Given the description of an element on the screen output the (x, y) to click on. 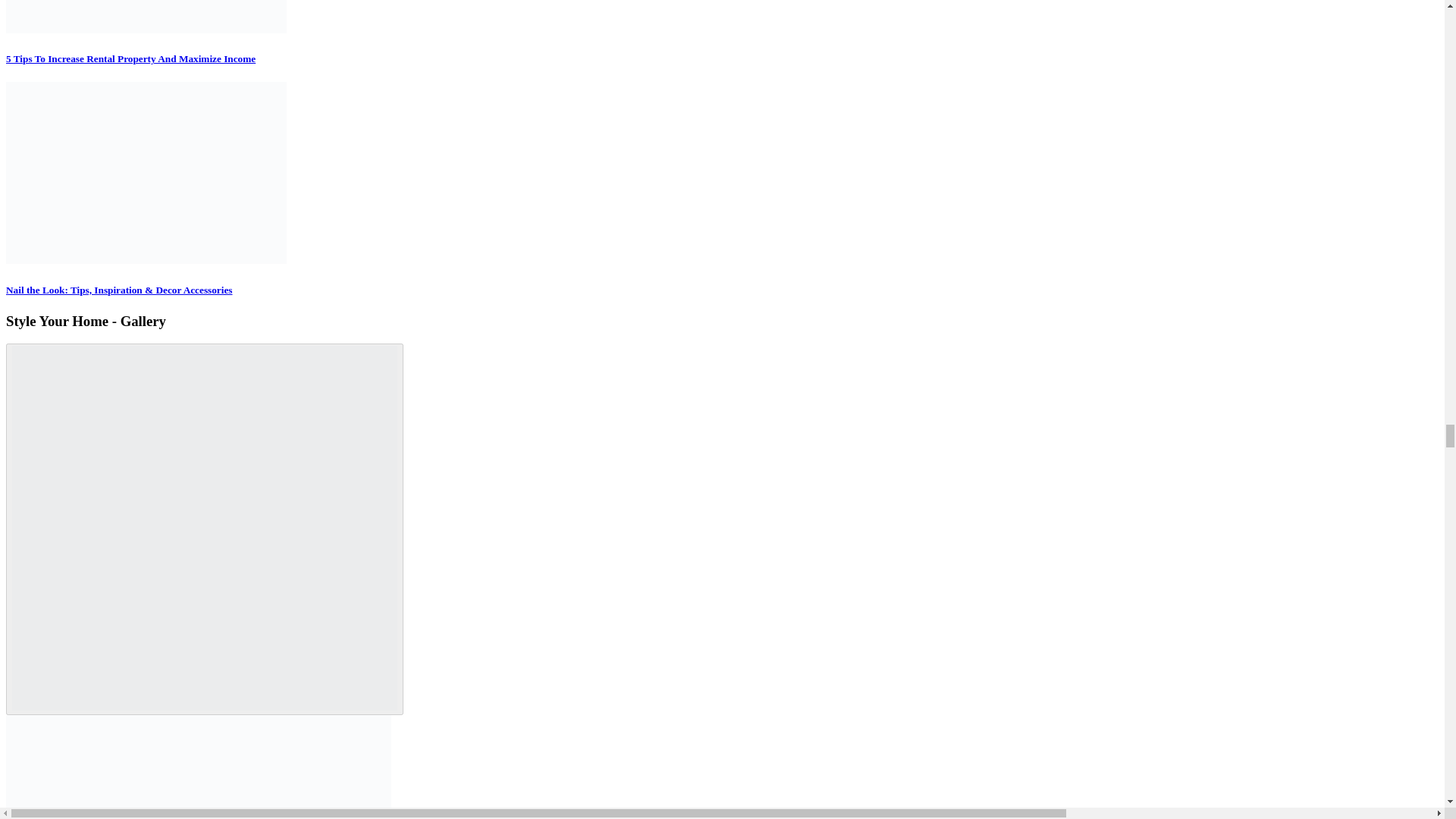
5 Tips To Increase Rental Property And Maximize Income (145, 16)
Tips-Inspiration-And-Decor-Accessories-To-Help-You-Nail-The (145, 172)
